Given the description of an element on the screen output the (x, y) to click on. 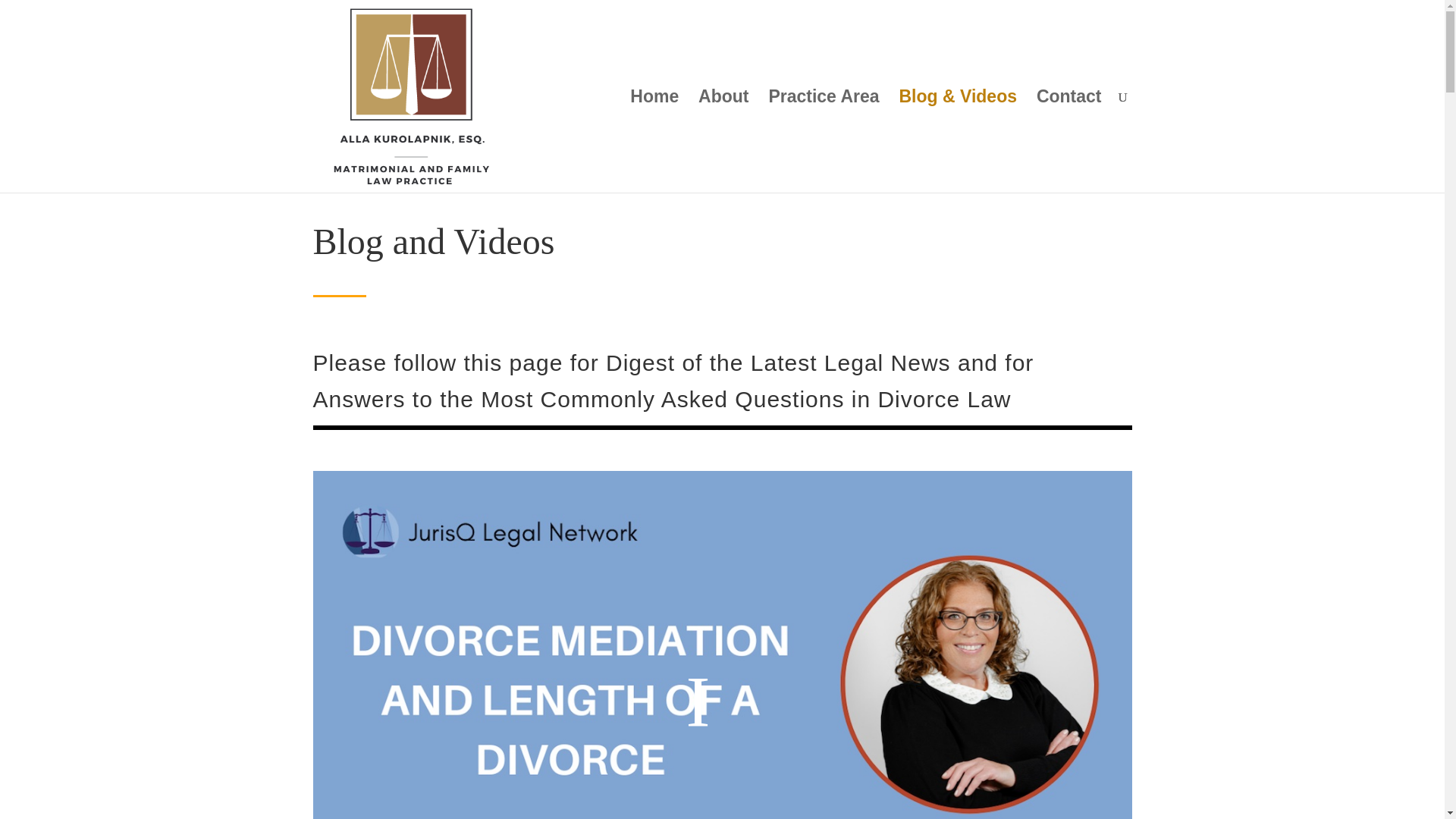
Practice Area (823, 141)
Contact (1069, 141)
About (723, 141)
Home (654, 141)
